Given the description of an element on the screen output the (x, y) to click on. 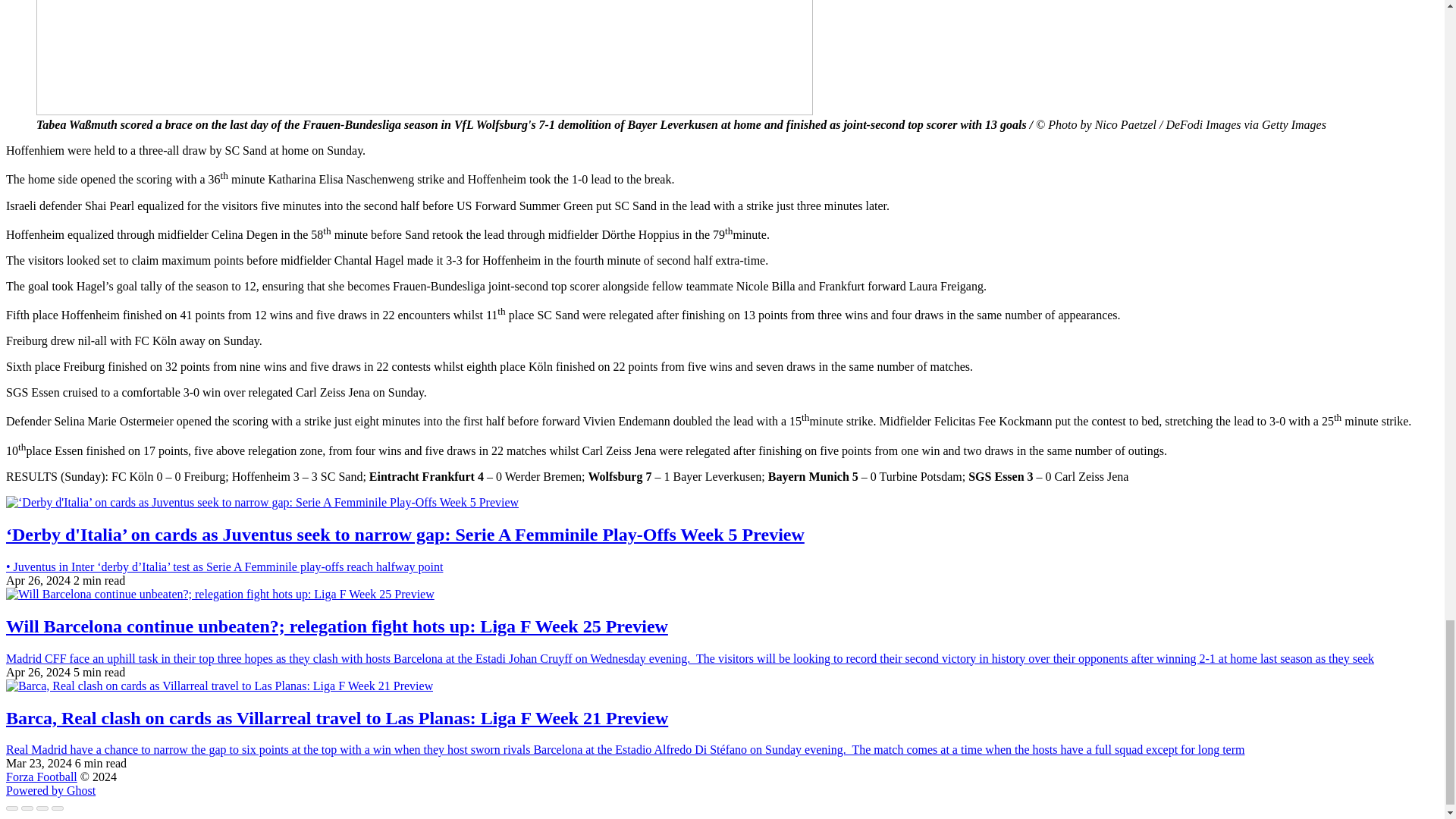
Powered by Ghost (50, 789)
Share (27, 807)
Toggle fullscreen (42, 807)
Forza Football (41, 776)
